Given the description of an element on the screen output the (x, y) to click on. 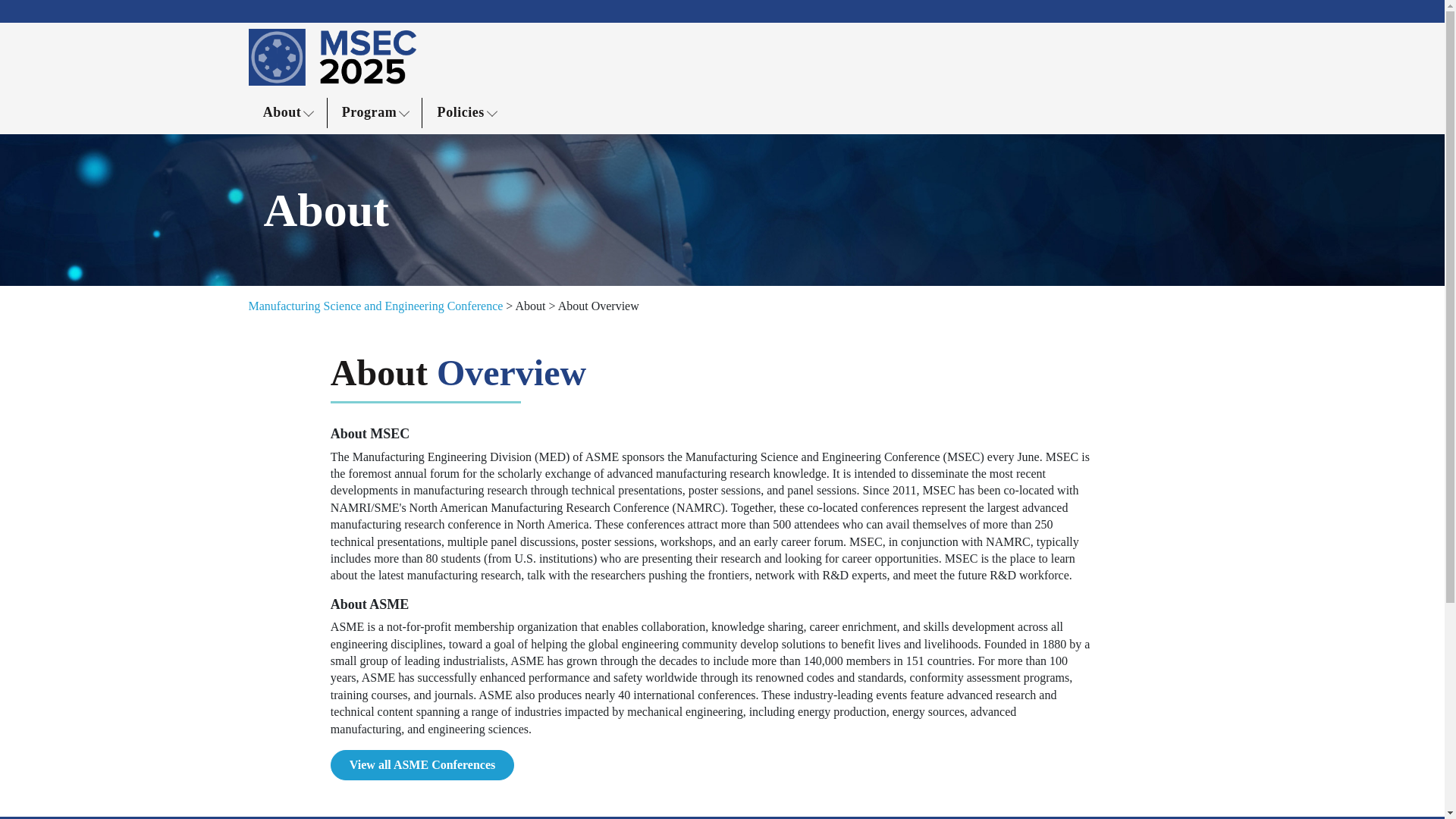
About (288, 112)
Program (374, 112)
Policies (467, 112)
View all ASME Conferences (421, 765)
Manufacturing Science and Engineering Conference (375, 305)
About (530, 305)
